Given the description of an element on the screen output the (x, y) to click on. 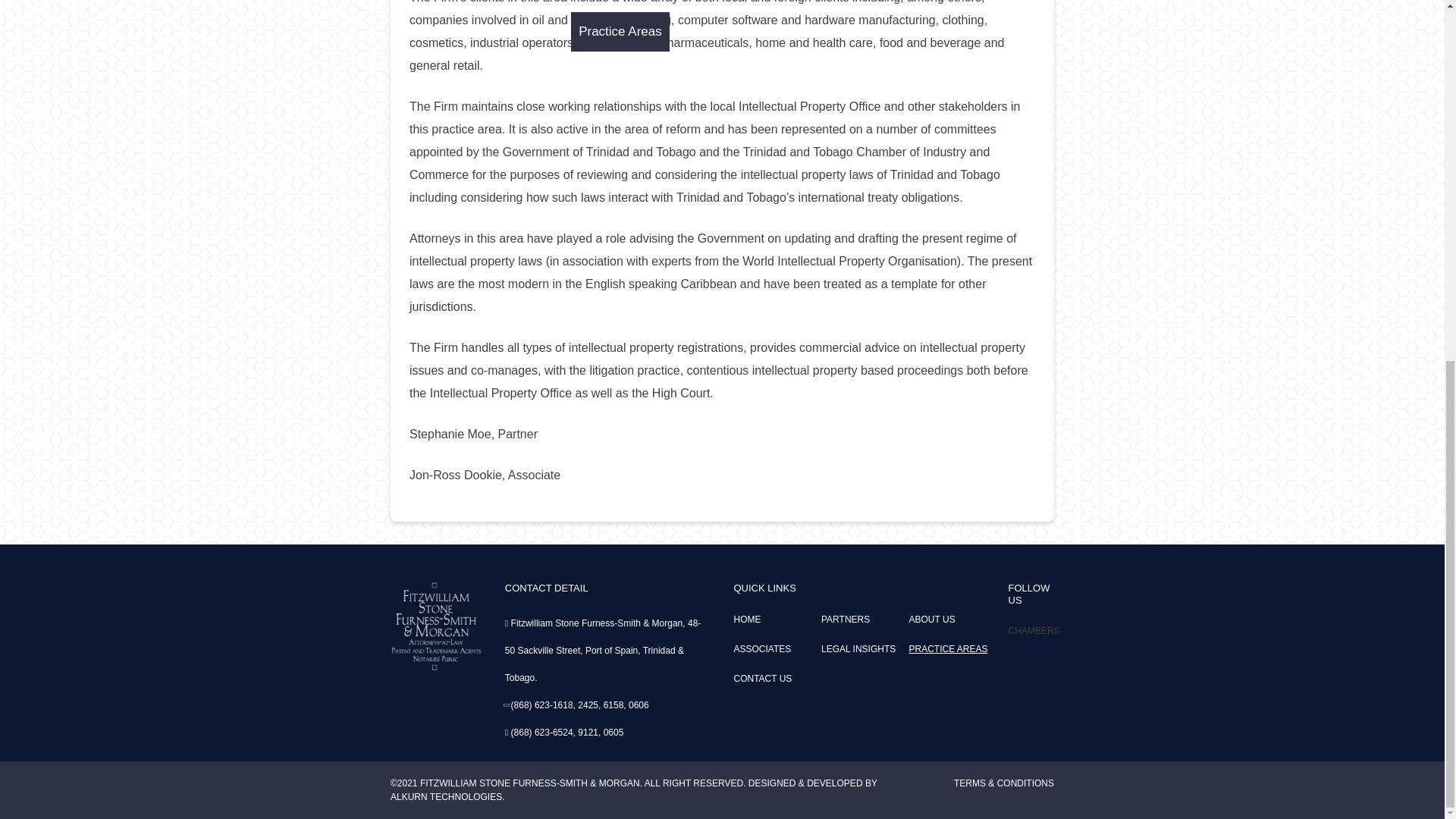
PRACTICE AREAS (948, 648)
LEGAL INSIGHTS (858, 648)
ALKURN TECHNOLOGIES (446, 796)
ASSOCIATES (761, 648)
ABOUT US (931, 619)
HOME (746, 619)
PARTNERS (845, 619)
CONTACT US (762, 678)
CHAMBERS (1034, 630)
